Given the description of an element on the screen output the (x, y) to click on. 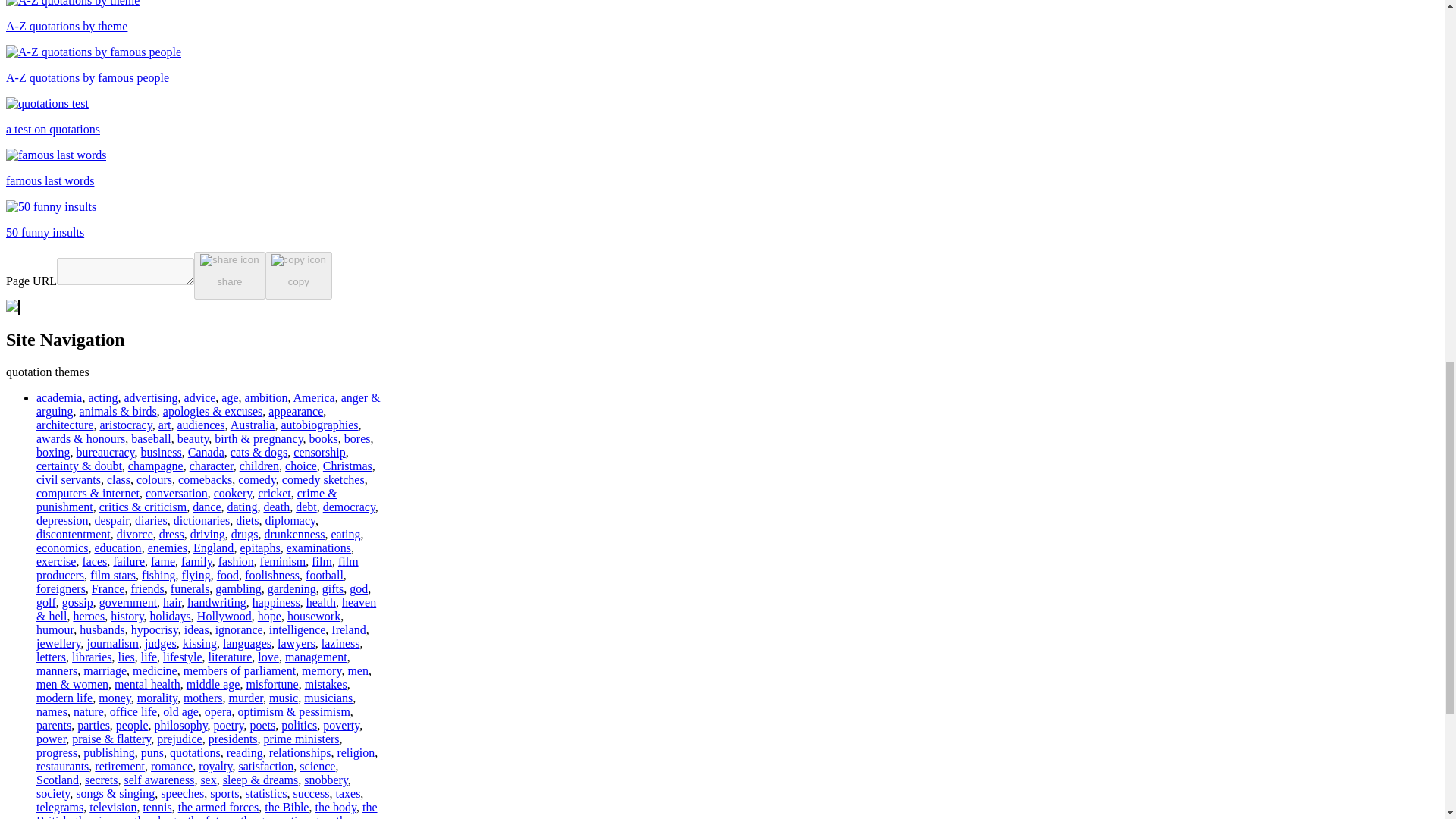
age (229, 397)
acting (102, 397)
bores (357, 438)
autobiographies (319, 424)
academia (58, 397)
art (164, 424)
baseball (150, 438)
aristocracy (126, 424)
beauty (193, 438)
books (322, 438)
